Given the description of an element on the screen output the (x, y) to click on. 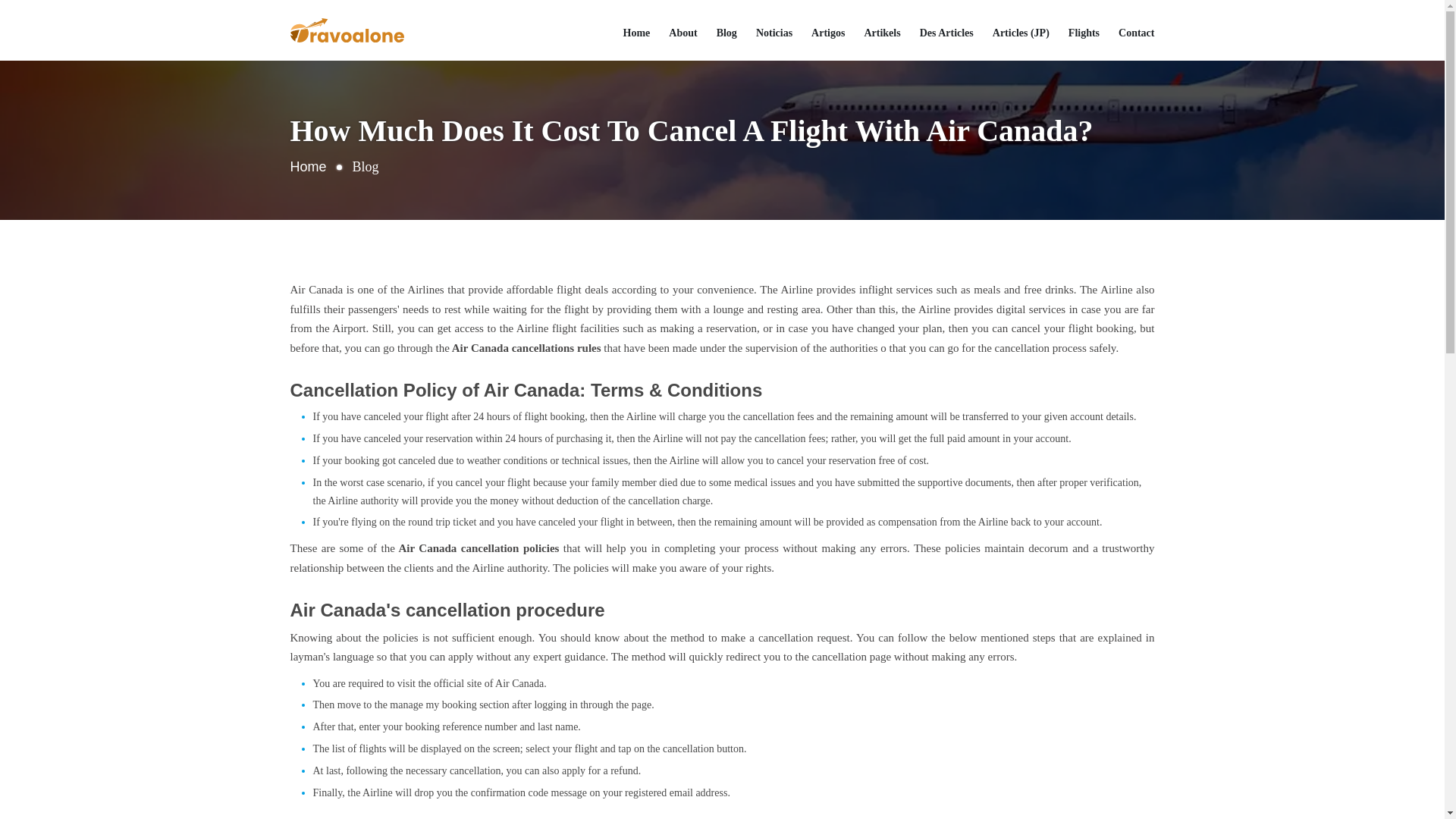
Noticias (773, 32)
Home (307, 167)
Artikels (881, 32)
Blog (726, 32)
Home (636, 32)
Artigos (827, 32)
Des Articles (947, 32)
Contact (1136, 32)
About (682, 32)
Flights (1083, 32)
